Given the description of an element on the screen output the (x, y) to click on. 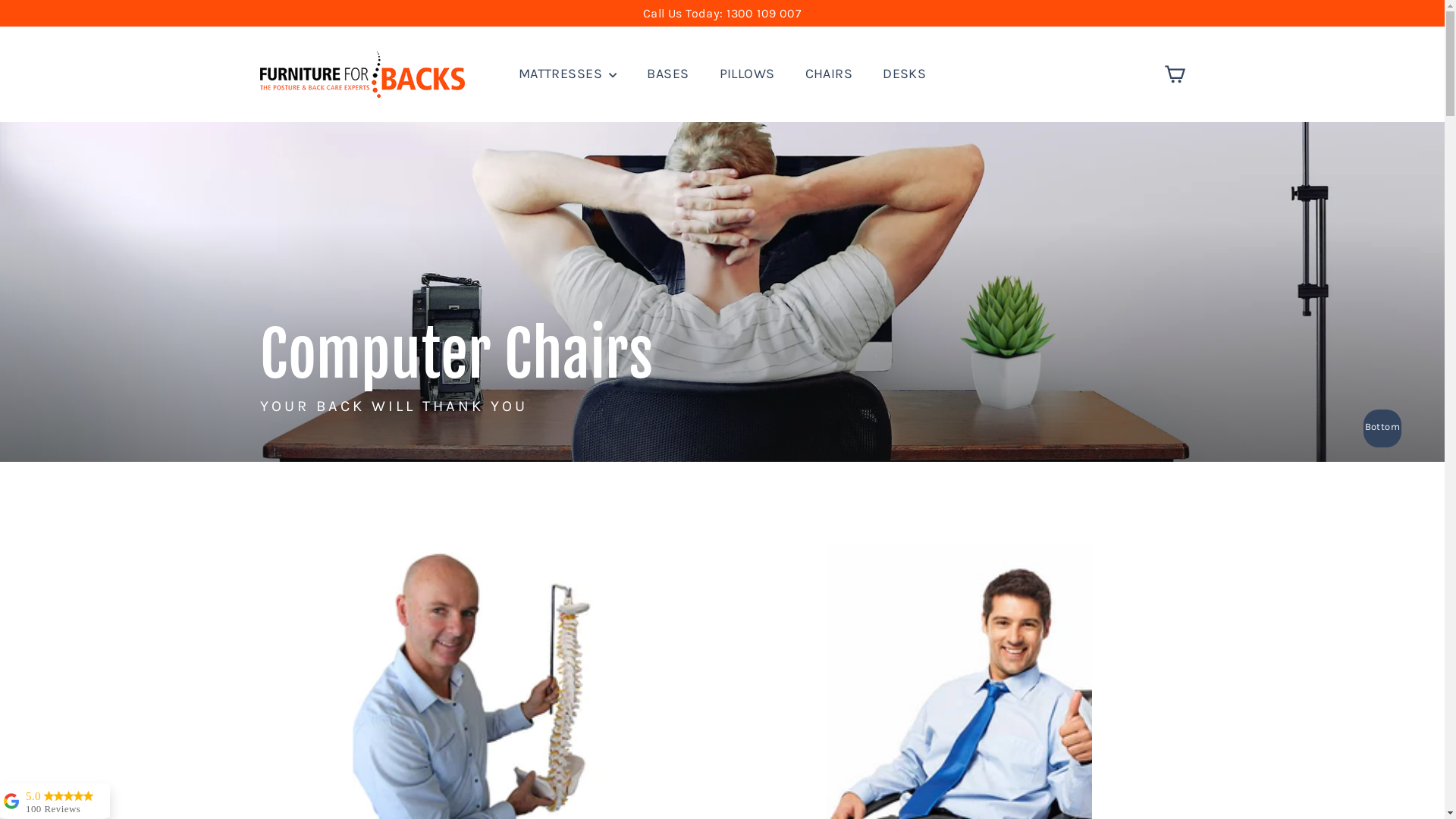
Bottom Element type: text (1382, 428)
Cart Element type: text (1173, 73)
Call Us Today: 1300 109 007 Element type: text (722, 13)
MATTRESSES Element type: text (567, 73)
DESKS Element type: text (904, 73)
CHAIRS Element type: text (829, 73)
BASES Element type: text (667, 73)
PILLOWS Element type: text (747, 73)
